Given the description of an element on the screen output the (x, y) to click on. 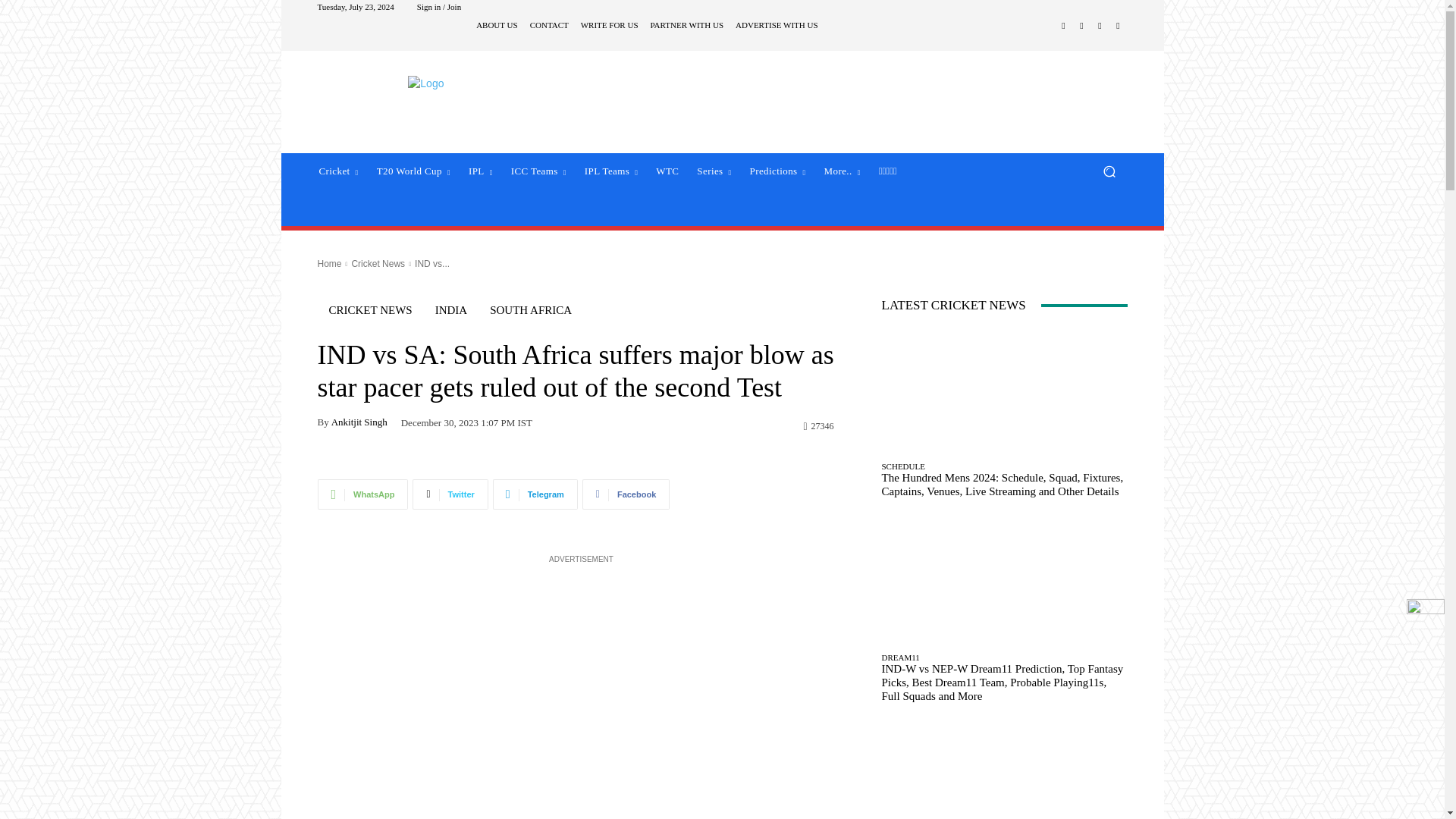
Twitter (1099, 25)
Facebook (1062, 25)
Youtube (1117, 25)
Instagram (1080, 25)
Twitter (449, 494)
View all posts in Cricket News (377, 263)
WhatsApp (362, 494)
